Given the description of an element on the screen output the (x, y) to click on. 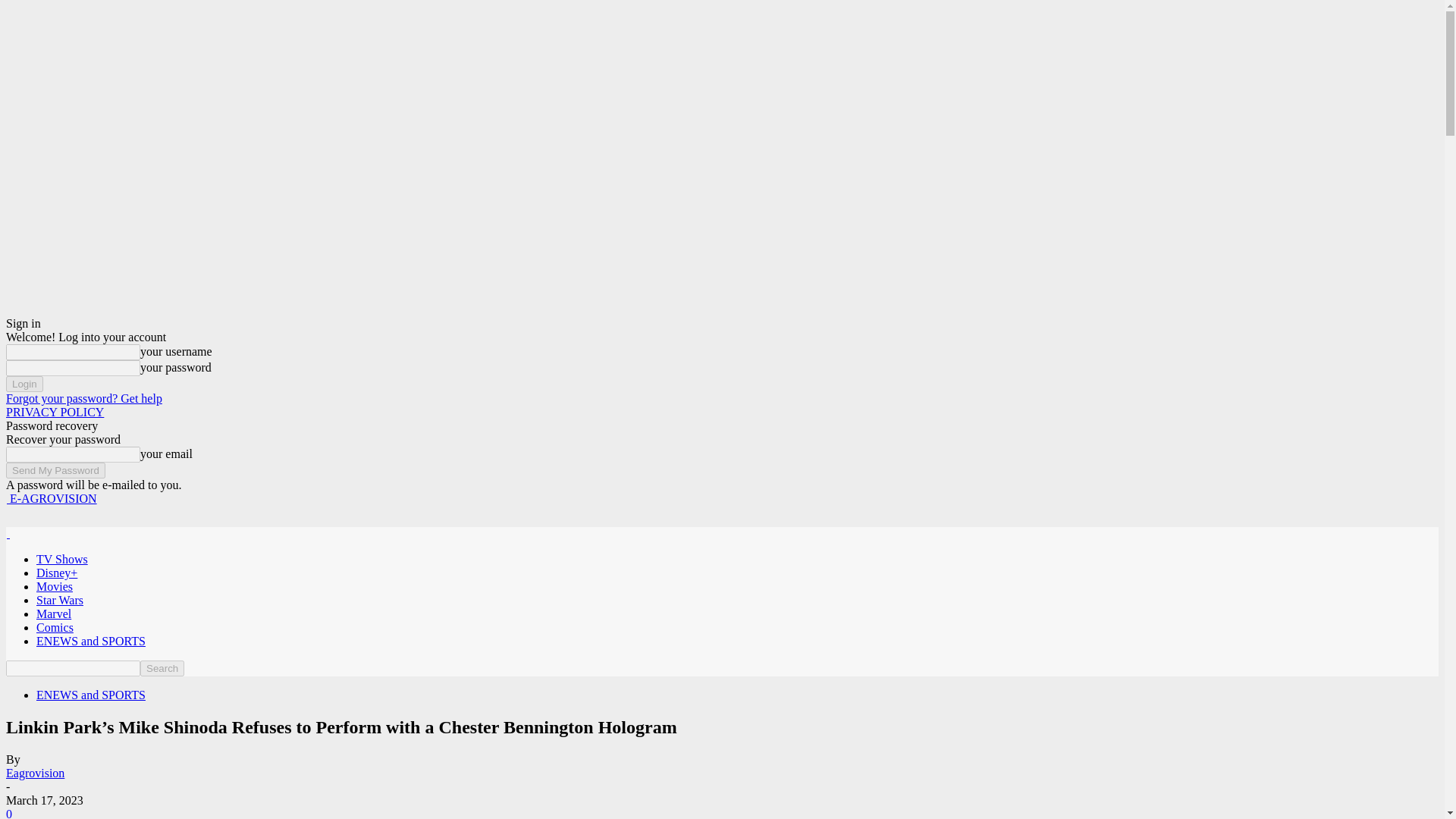
0 (8, 813)
Comics (55, 626)
Eagrovision (34, 772)
Send My Password (54, 470)
PRIVACY POLICY (54, 411)
Search (161, 668)
E-AGROVISION (51, 498)
TV Shows (61, 558)
Login (24, 383)
Forgot your password? Get help (83, 398)
ENEWS and SPORTS (90, 640)
Star Wars (59, 599)
Movies (54, 585)
Marvel (53, 613)
ENEWS and SPORTS (90, 694)
